Given the description of an element on the screen output the (x, y) to click on. 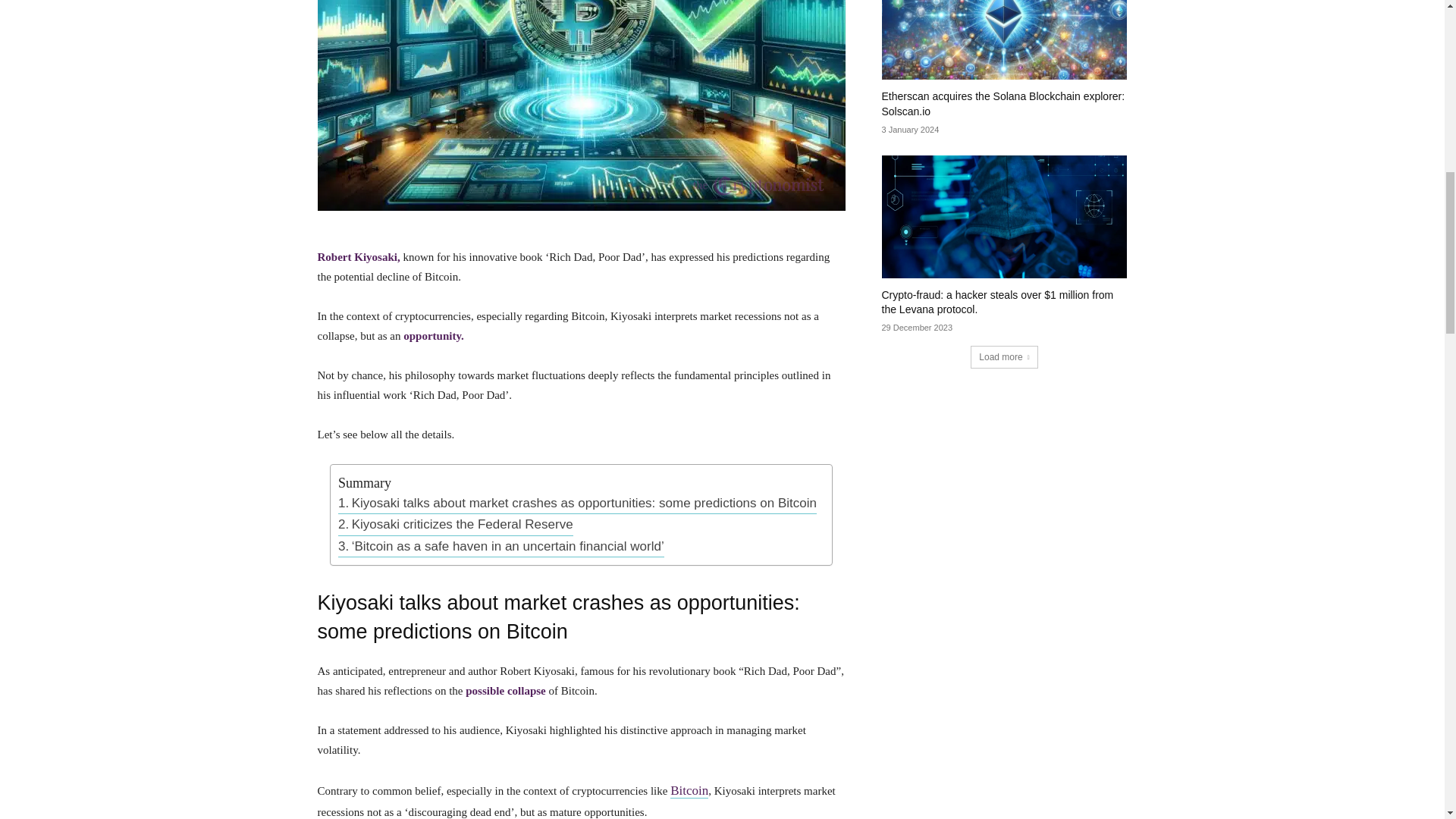
Kiyosaki criticizes the Federal Reserve (455, 524)
previsioni bitcoin Kiyosaki (580, 105)
